Given the description of an element on the screen output the (x, y) to click on. 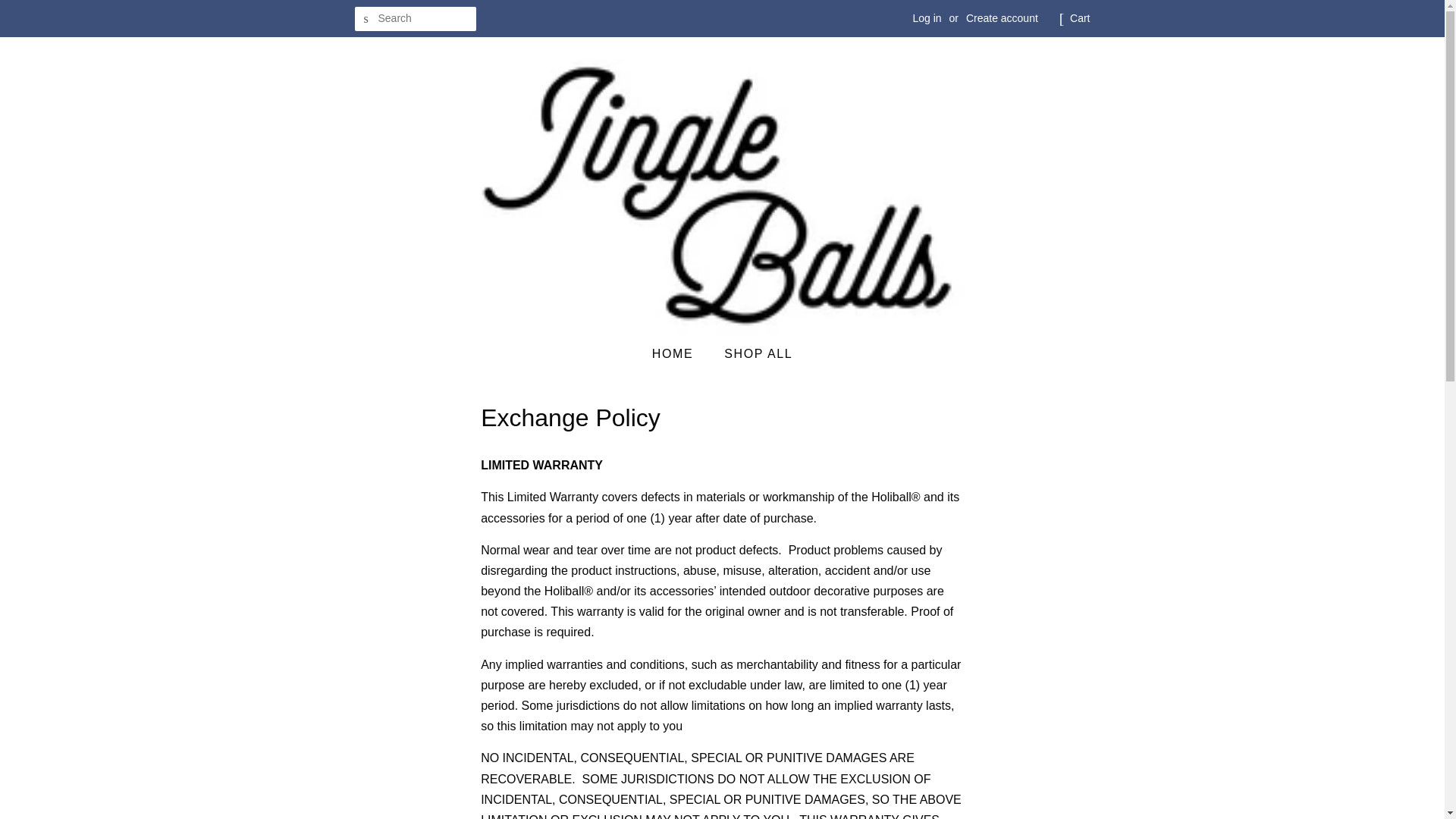
Cart (1079, 18)
SHOP ALL (752, 353)
Log in (927, 18)
SEARCH (366, 18)
HOME (679, 353)
Create account (1002, 18)
